Given the description of an element on the screen output the (x, y) to click on. 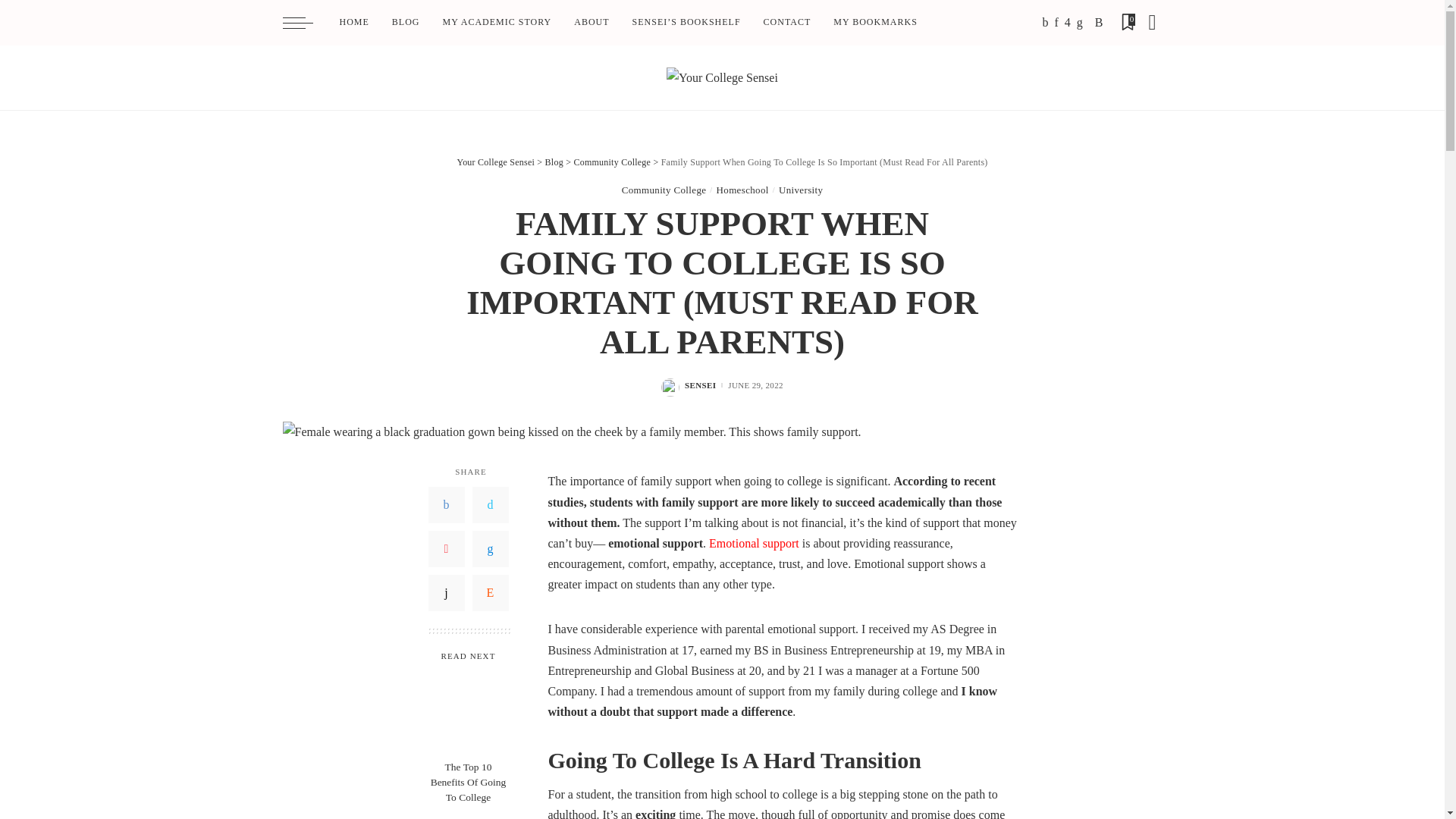
MY BOOKMARKS (875, 22)
CONTACT (787, 22)
MY ACADEMIC STORY (496, 22)
ABOUT (591, 22)
BLOG (405, 22)
HOME (353, 22)
